Given the description of an element on the screen output the (x, y) to click on. 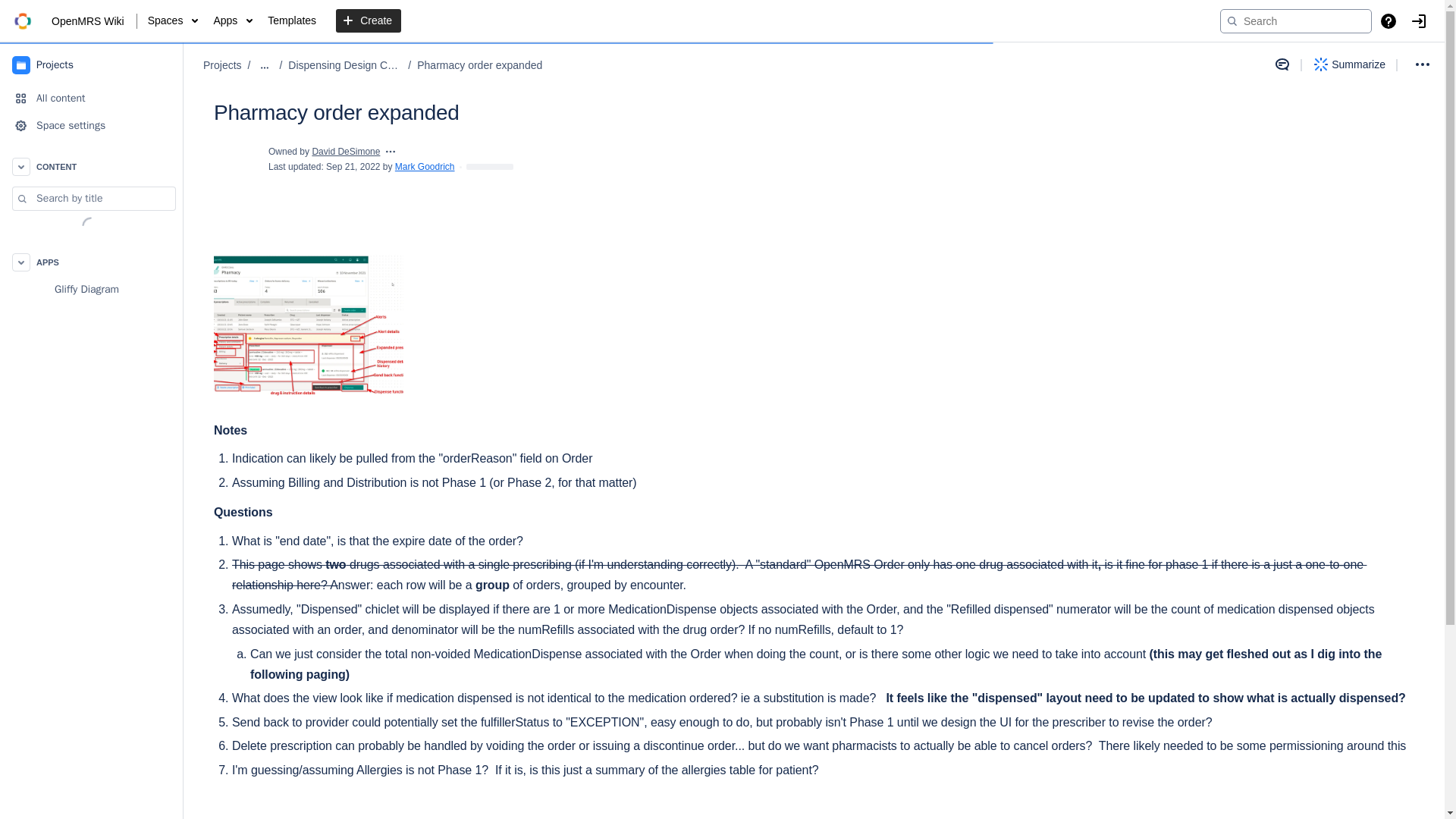
Spaces (172, 21)
Apps (232, 21)
APPS (90, 262)
Space settings (90, 125)
Create (368, 21)
All content (90, 98)
Mark Goodrich (424, 166)
Summarize (1349, 64)
CONTENT (90, 166)
Projects (222, 64)
